Given the description of an element on the screen output the (x, y) to click on. 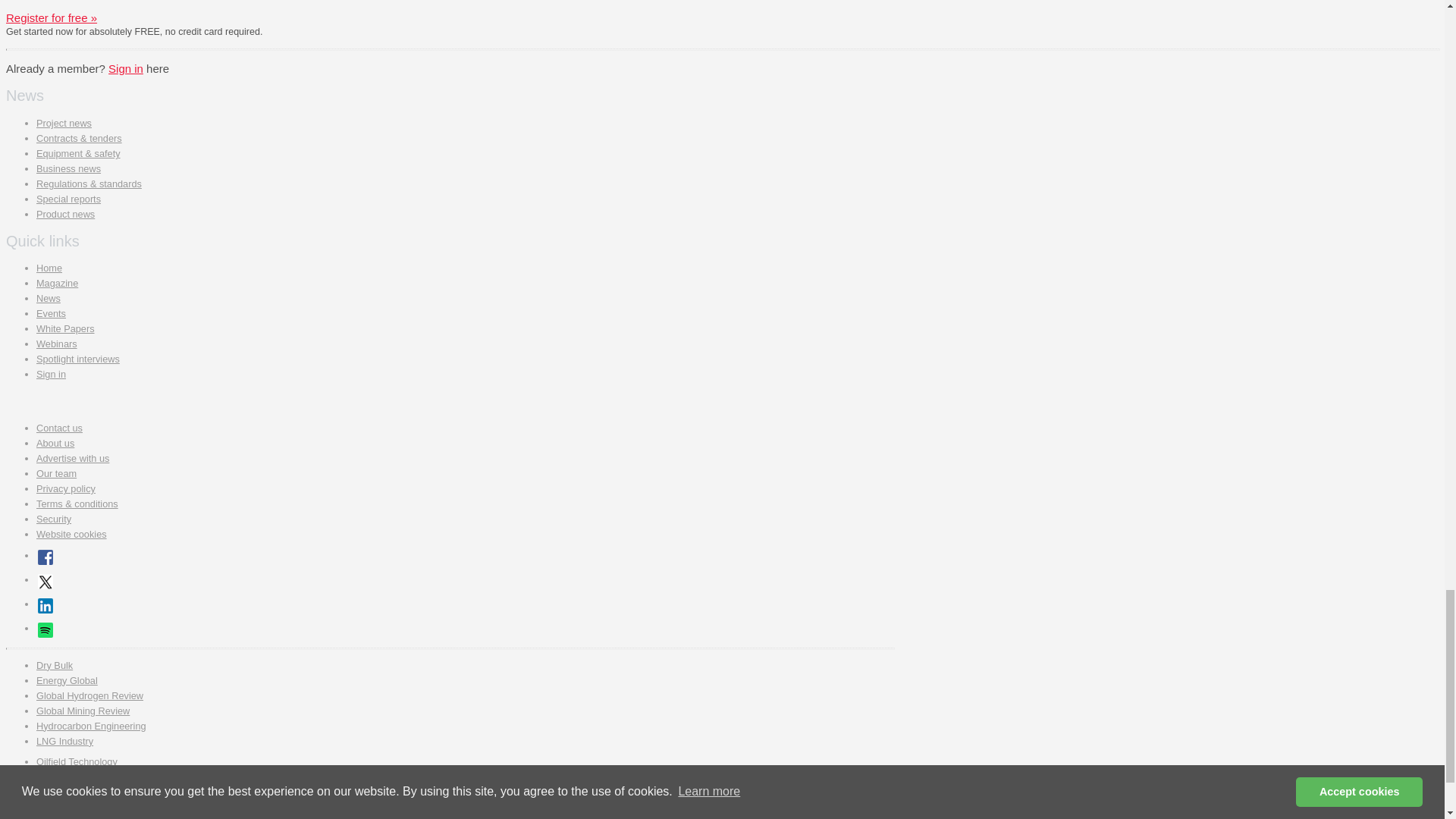
Sign in (124, 68)
